Given the description of an element on the screen output the (x, y) to click on. 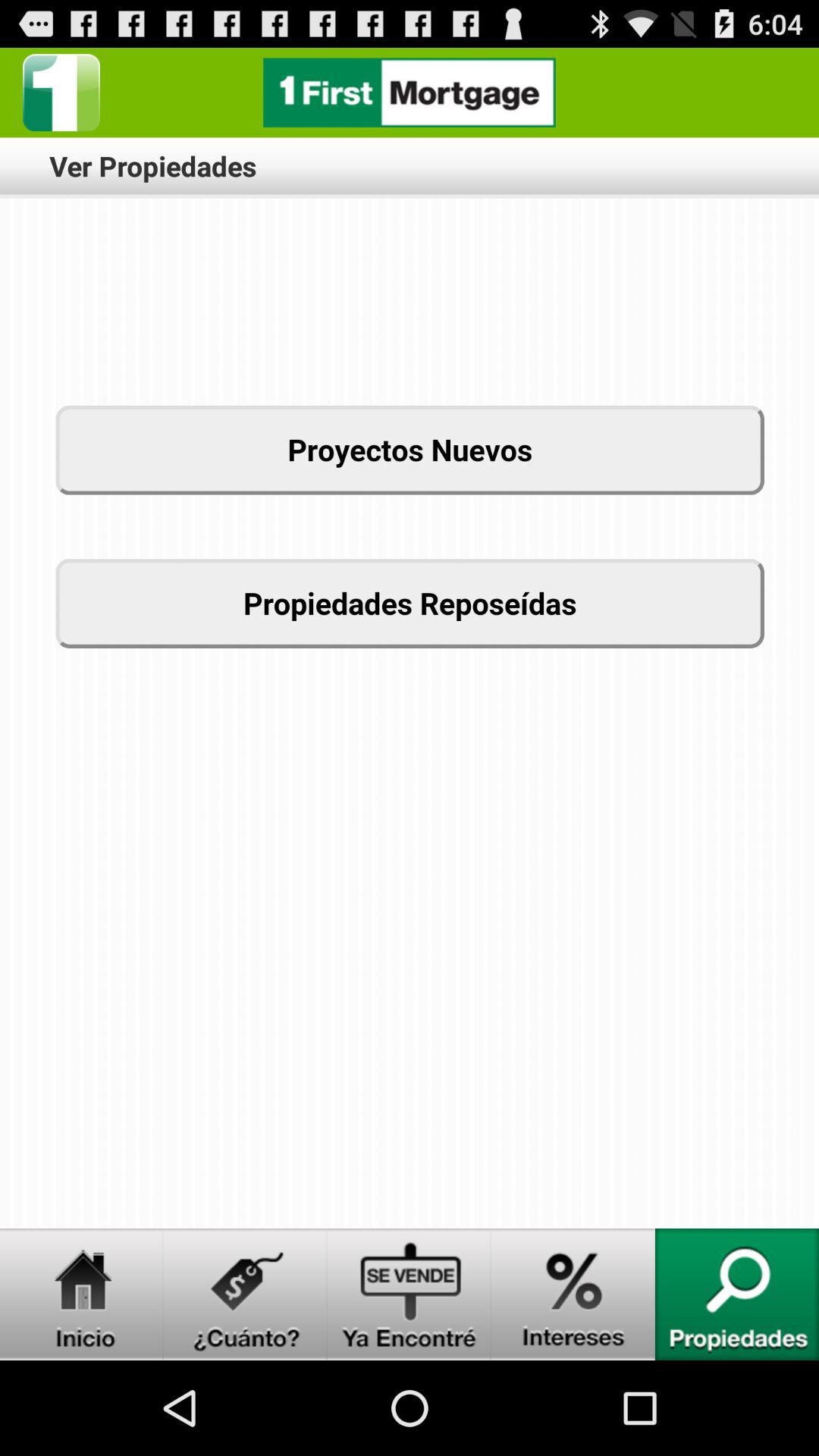
search (737, 1294)
